Given the description of an element on the screen output the (x, y) to click on. 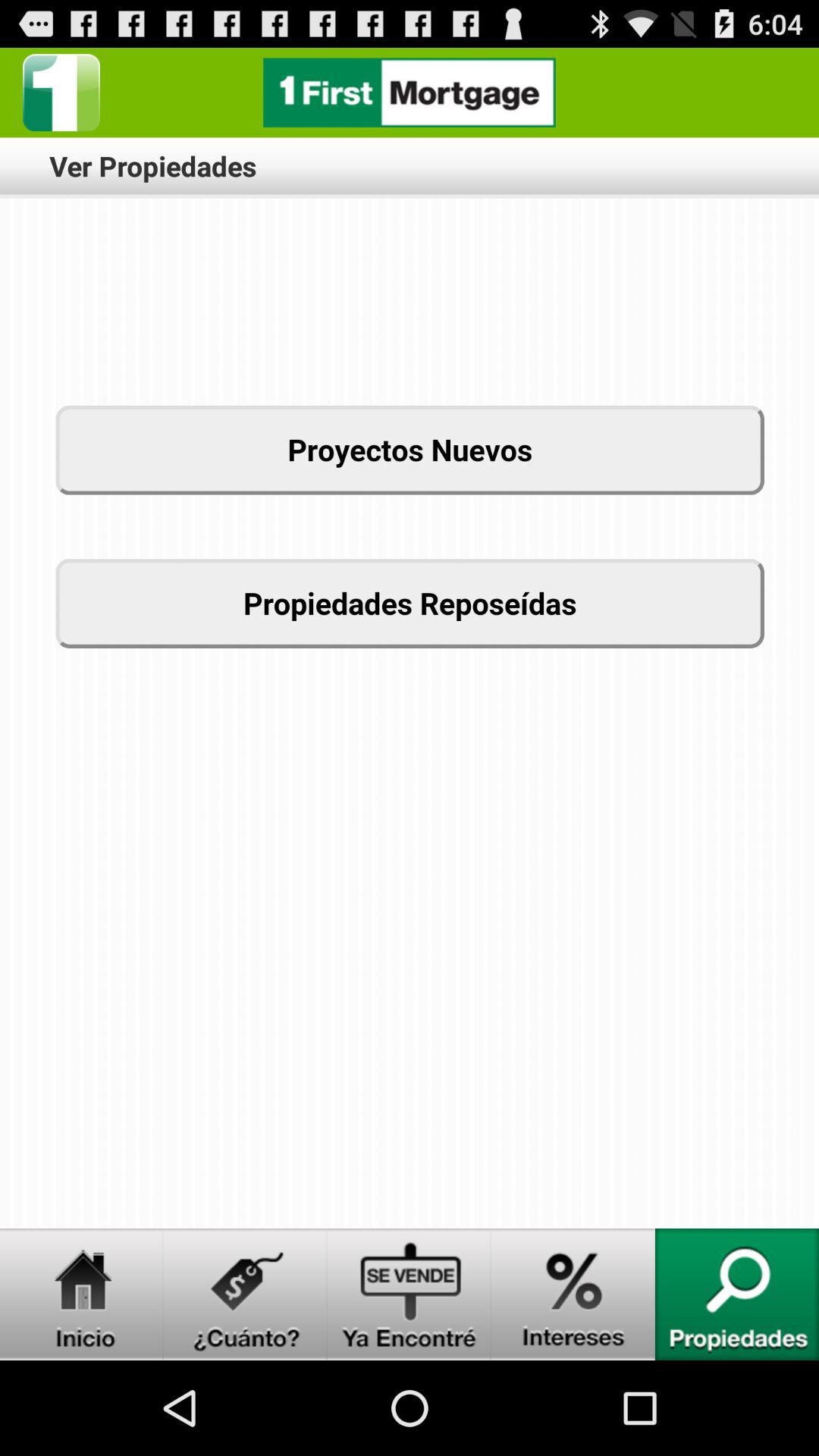
search (737, 1294)
